Given the description of an element on the screen output the (x, y) to click on. 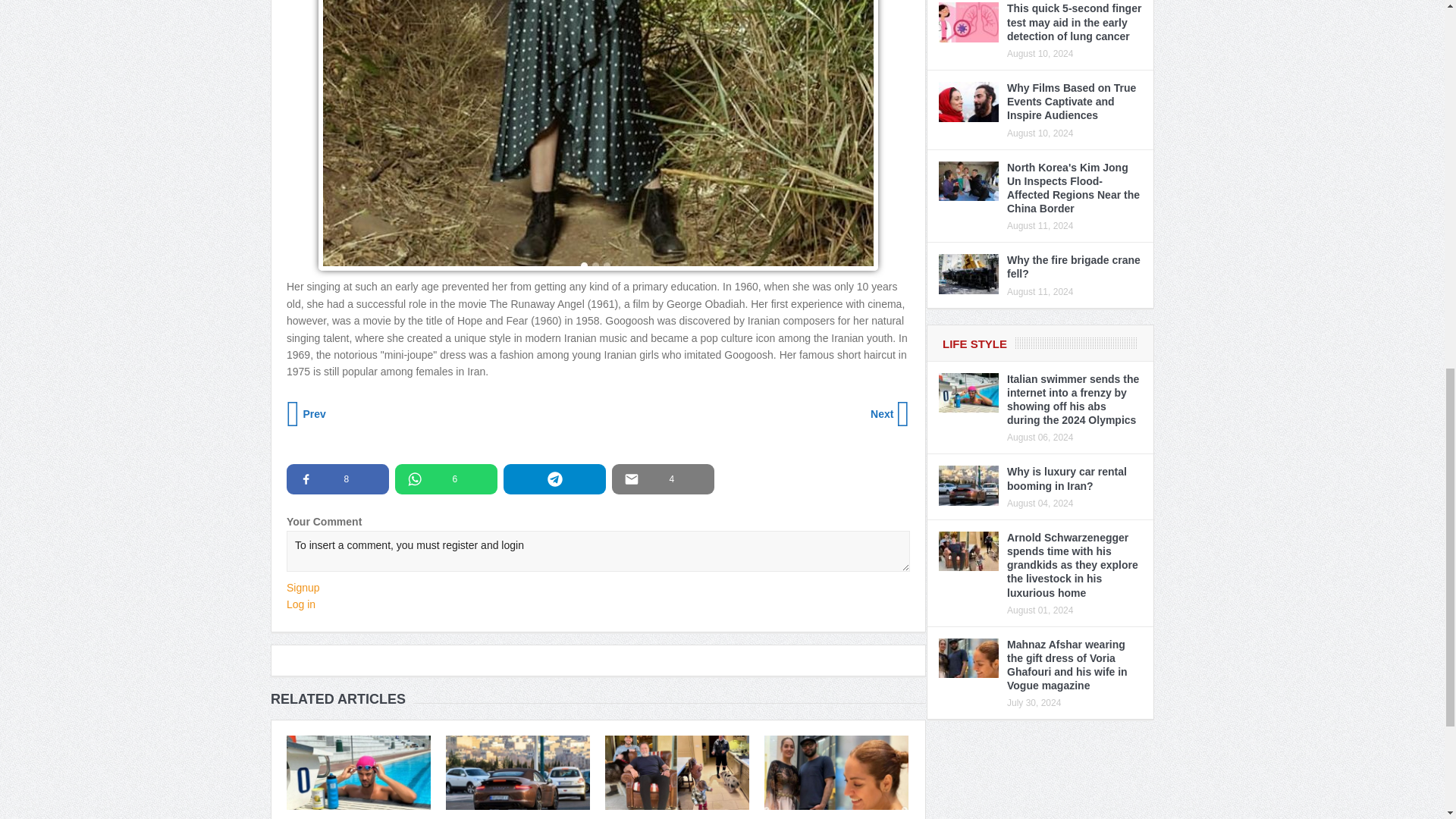
Log in (300, 604)
Signup (303, 587)
Next (888, 413)
Prev (307, 413)
